Given the description of an element on the screen output the (x, y) to click on. 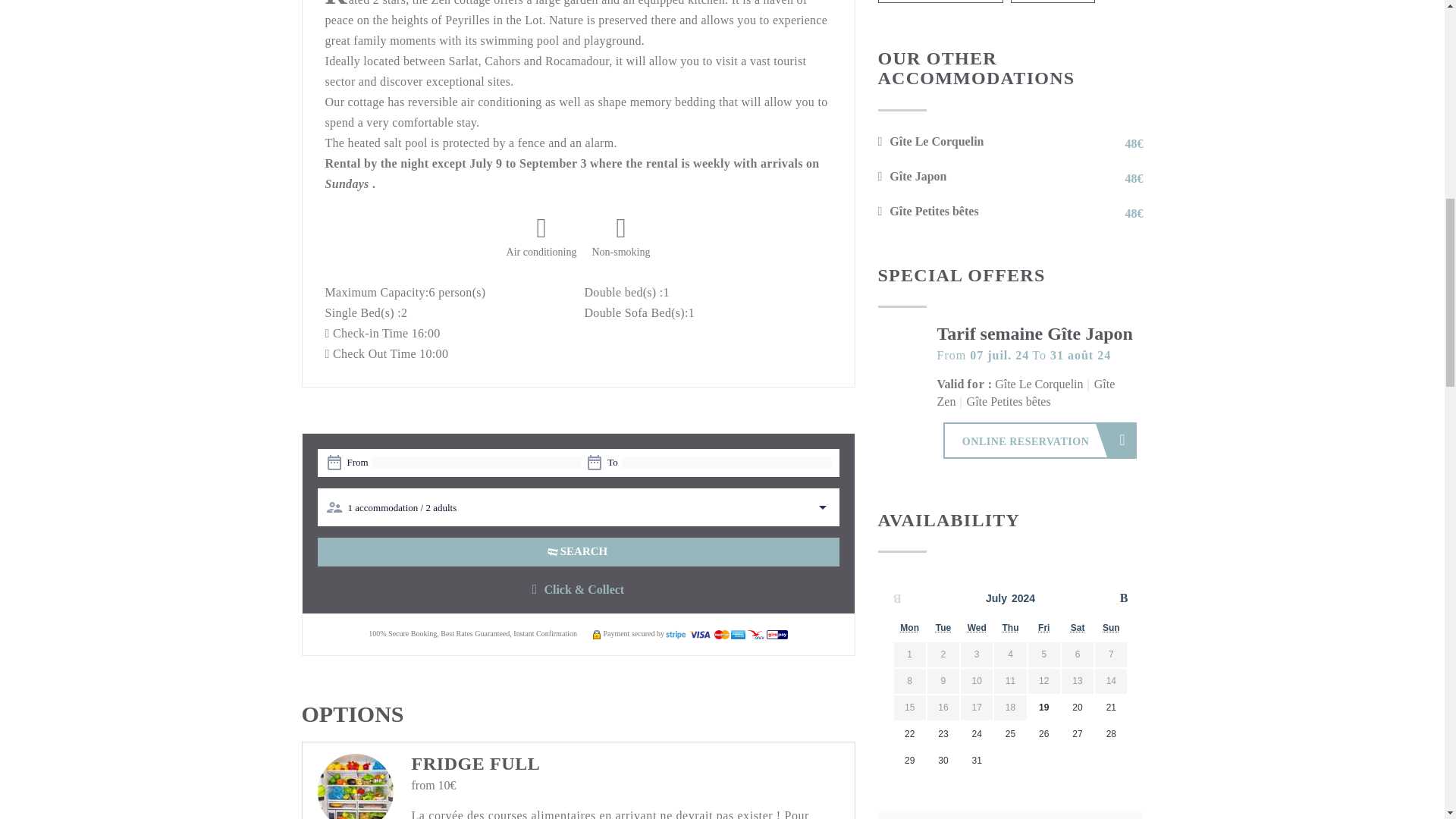
SEARCH (577, 551)
